Given the description of an element on the screen output the (x, y) to click on. 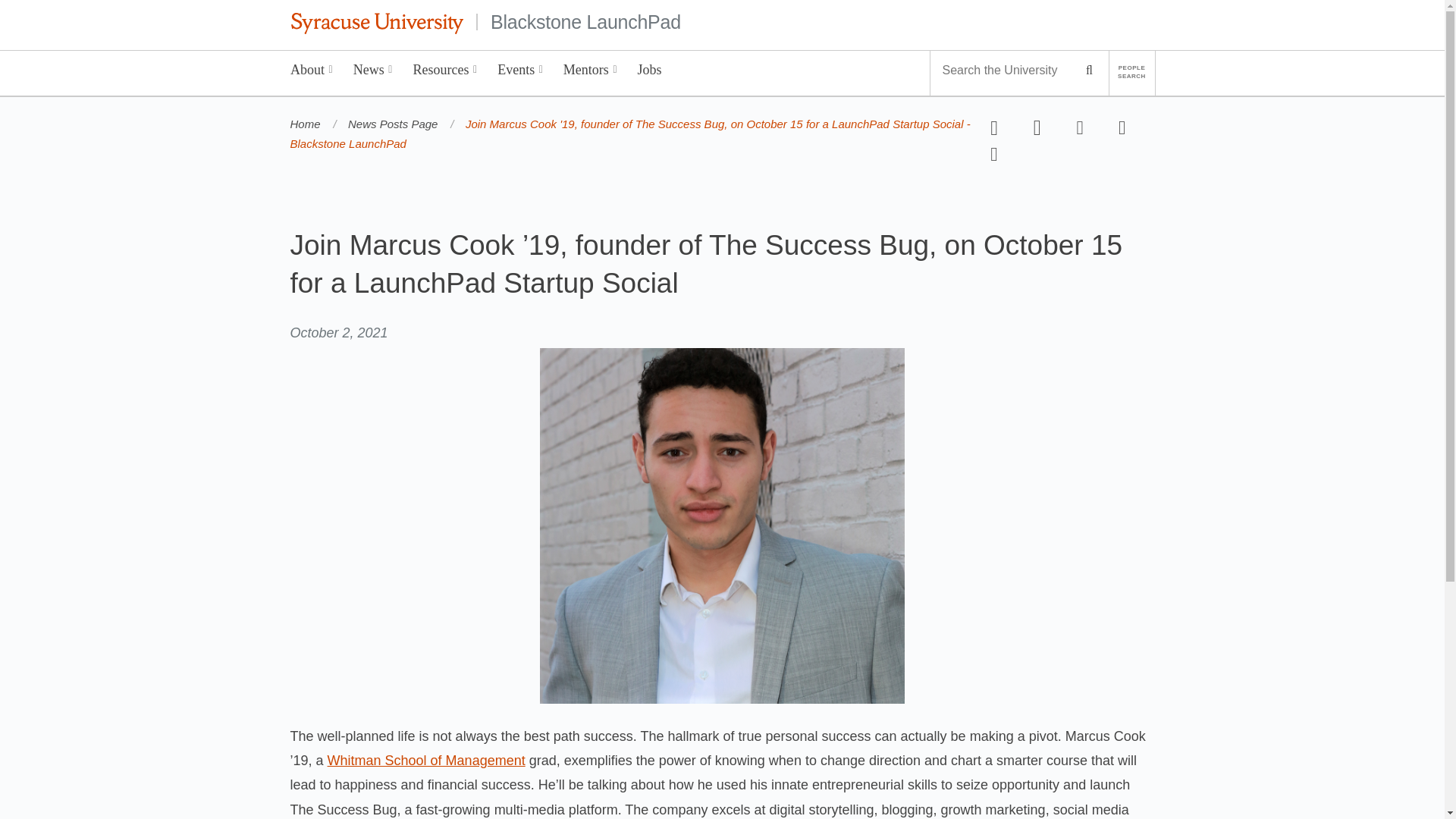
About (312, 72)
News (372, 72)
Events (520, 72)
Resources (445, 72)
Blackstone LaunchPad (585, 20)
